Given the description of an element on the screen output the (x, y) to click on. 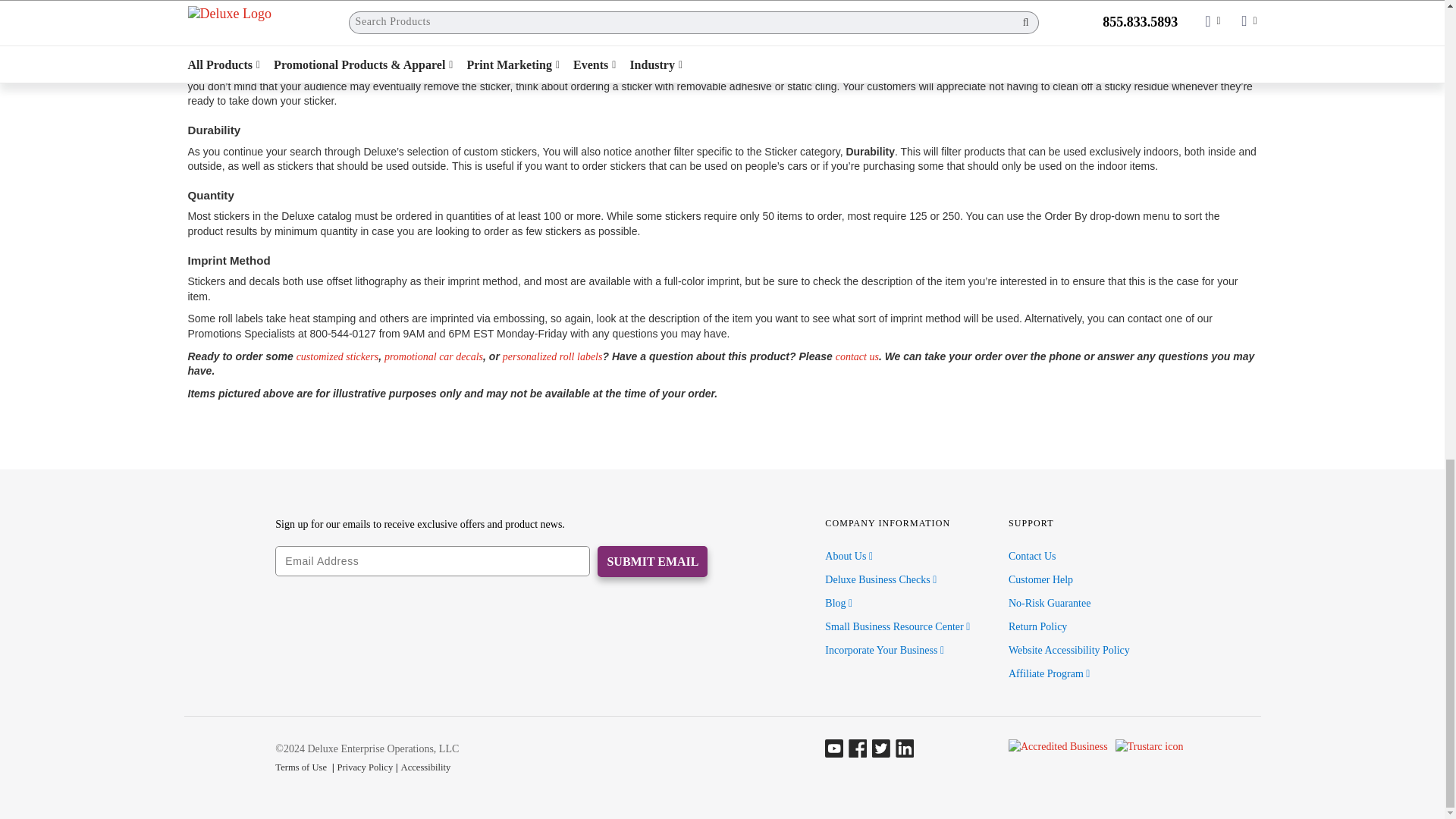
Incorporate Your Business - Opens in New Browser Window (884, 650)
Opens in New Browser Window (880, 579)
Opens in New Browser Window (897, 626)
Customized Stickers (337, 356)
Opens in New Browser Window (848, 555)
Opens in New Browser Window (1049, 673)
Promotional Car Decals (433, 356)
Personalized Roll Labels (552, 356)
Opens in New Browser Window (838, 603)
